Given the description of an element on the screen output the (x, y) to click on. 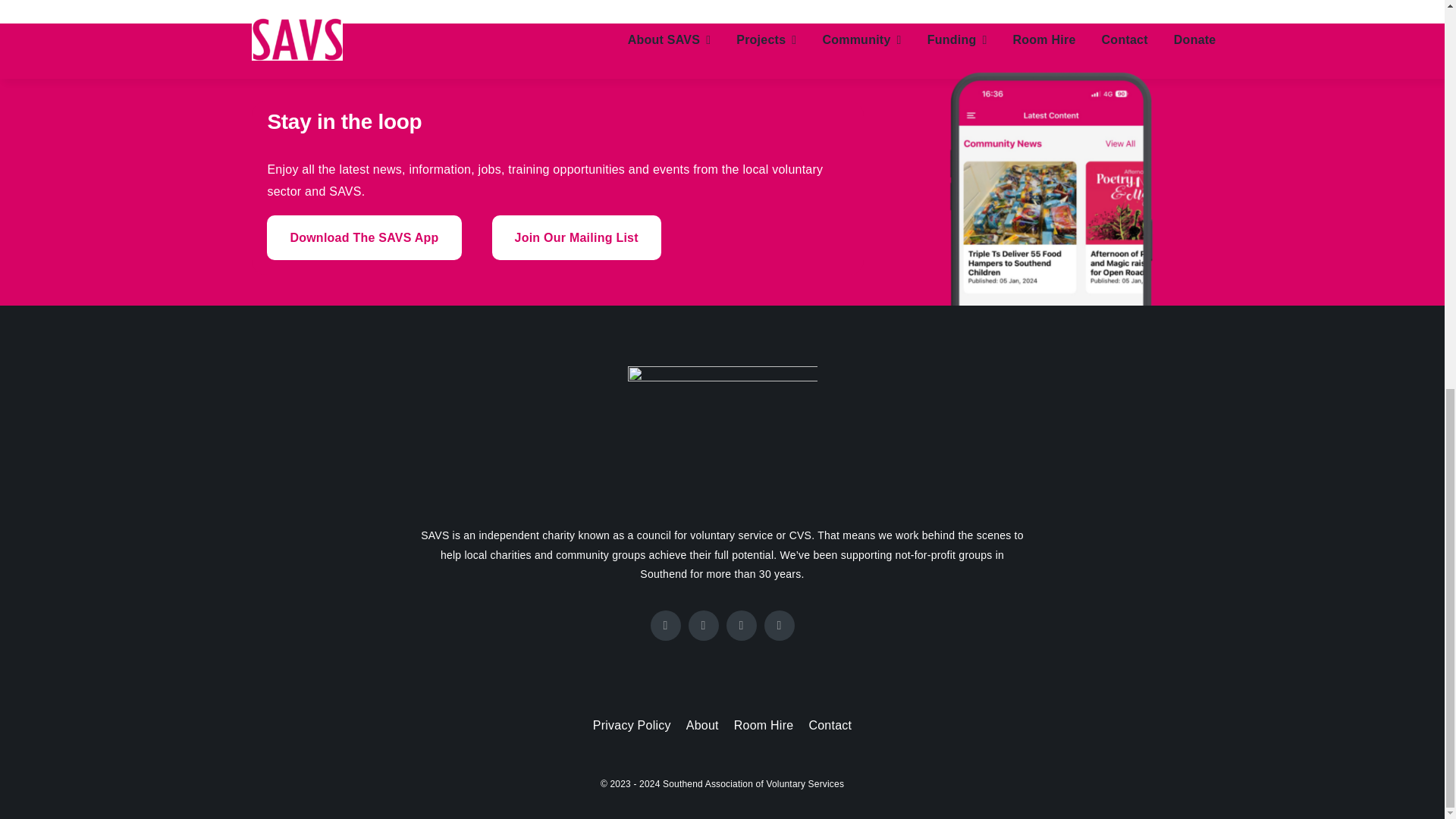
SAVS App for Footer (1051, 164)
